Given the description of an element on the screen output the (x, y) to click on. 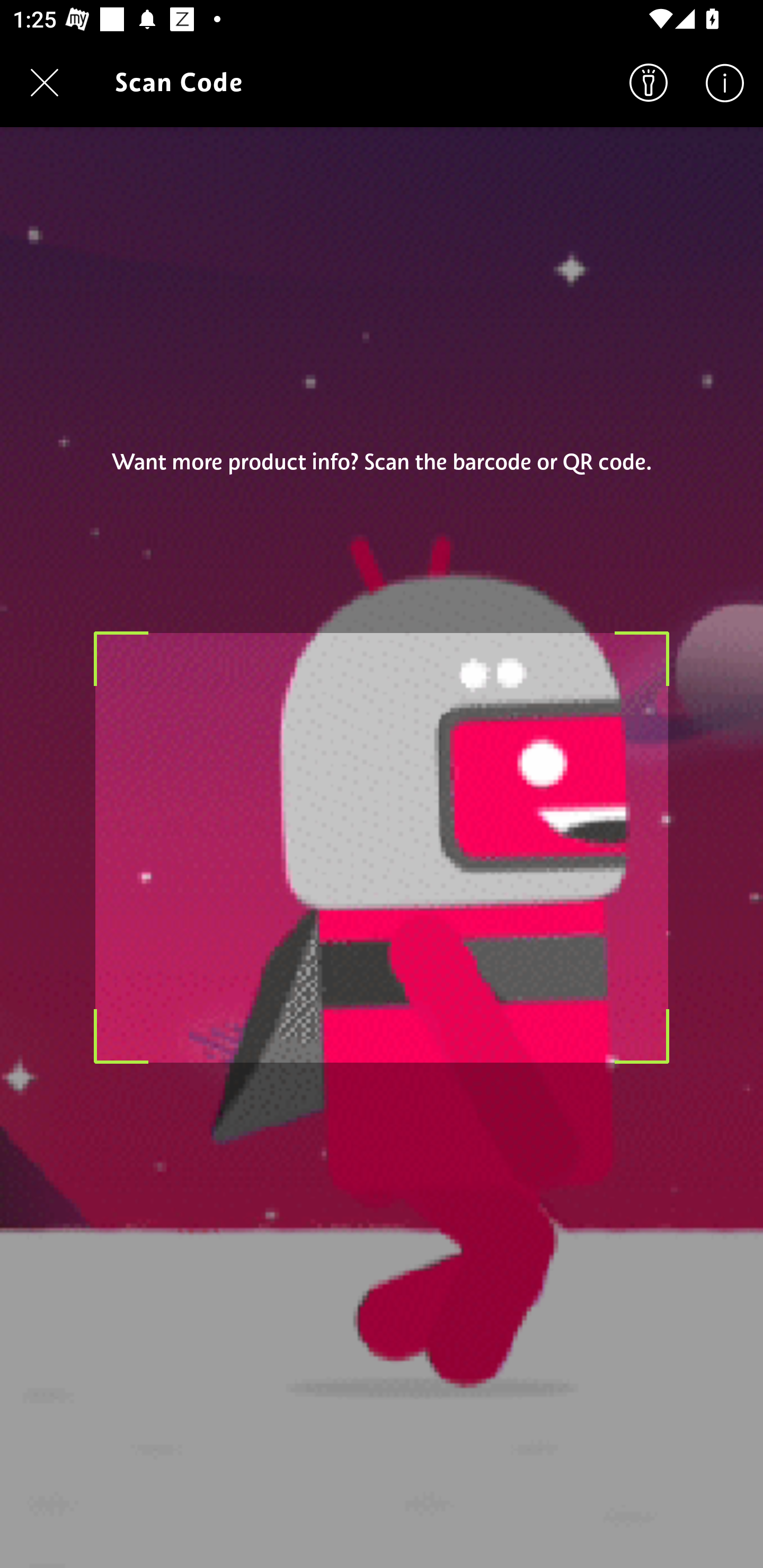
Navigate up (44, 82)
Search (648, 81)
Help (724, 81)
